Given the description of an element on the screen output the (x, y) to click on. 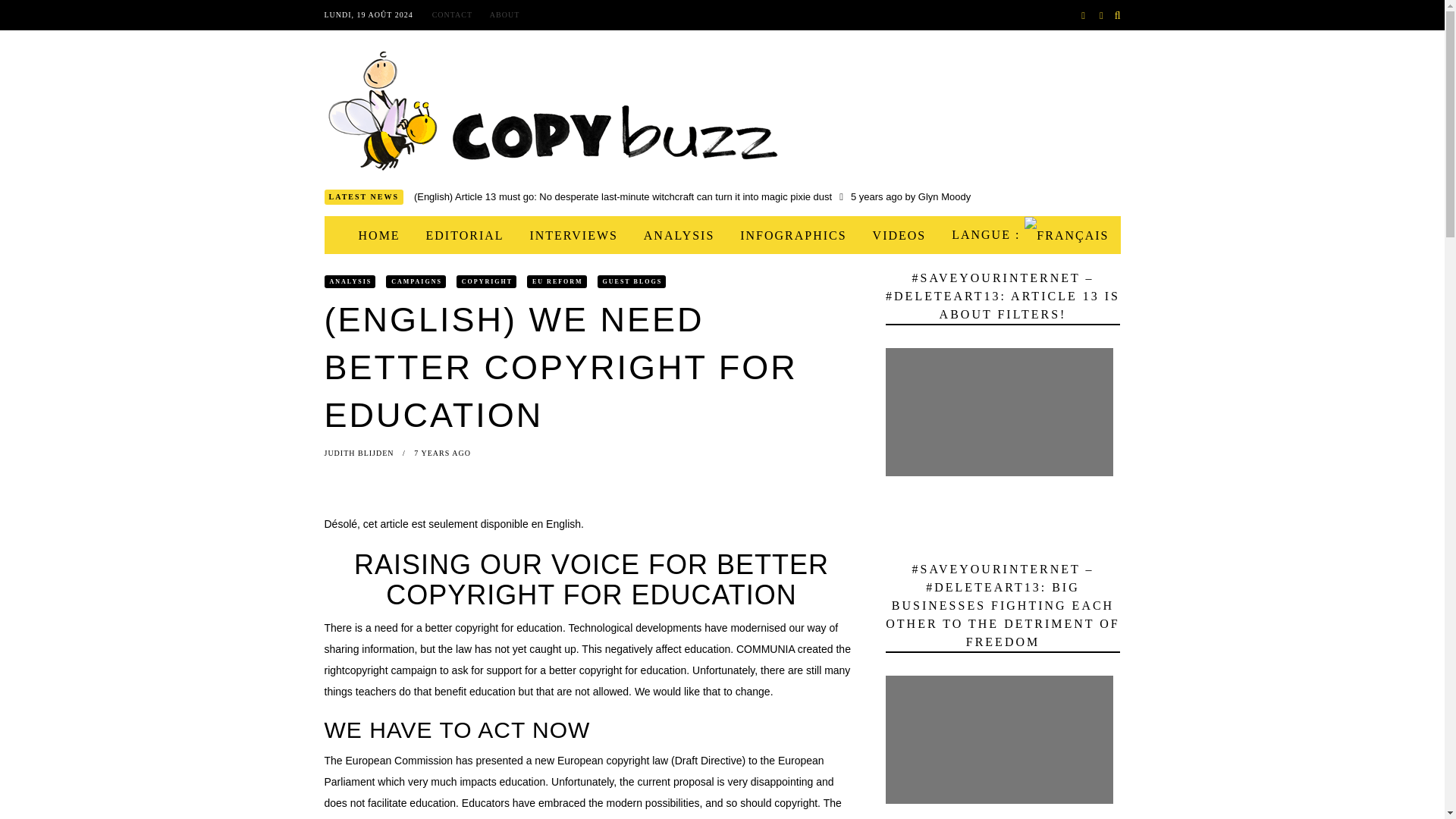
Articles par Herman Rucic (778, 254)
Articles par Glyn Moody (877, 239)
Glyn Moody (678, 211)
Herman Rucic (778, 254)
Glyn Moody (877, 239)
Articles par Glyn Moody (678, 211)
ANALYSIS (678, 235)
EDITORIAL (464, 235)
Glyn Moody (700, 225)
Articles par Glyn Moody (944, 196)
